Given the description of an element on the screen output the (x, y) to click on. 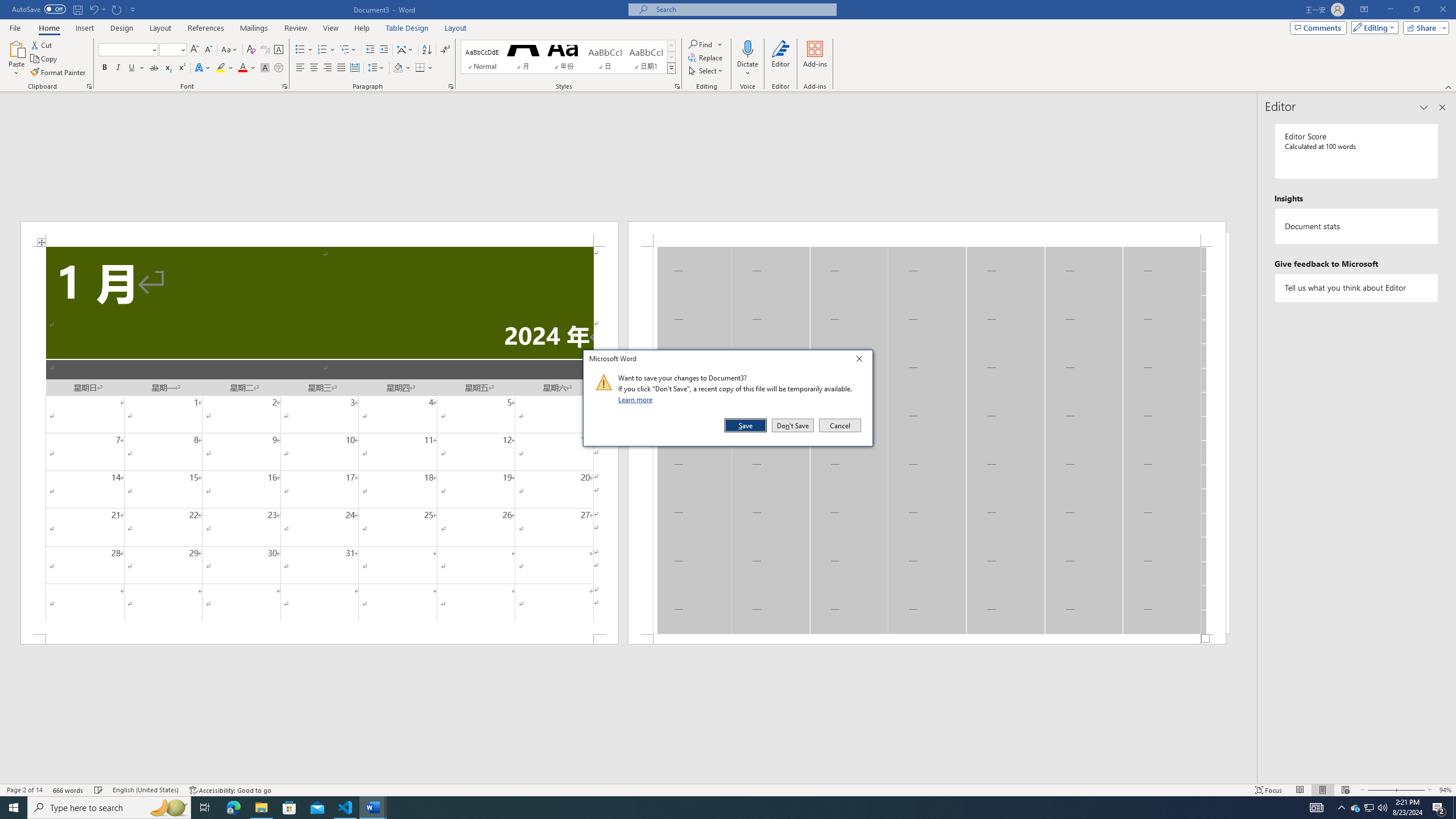
Page Number Page 2 of 14 (24, 790)
More Options (747, 68)
Show desktop (1454, 807)
Find (700, 44)
Borders (419, 67)
Dictate (747, 48)
Grow Font (193, 49)
Copy (45, 58)
Mode (1372, 27)
Dictate (747, 58)
Ribbon Display Options (1364, 9)
Character Shading (264, 67)
Bullets (300, 49)
Bold (104, 67)
